Given the description of an element on the screen output the (x, y) to click on. 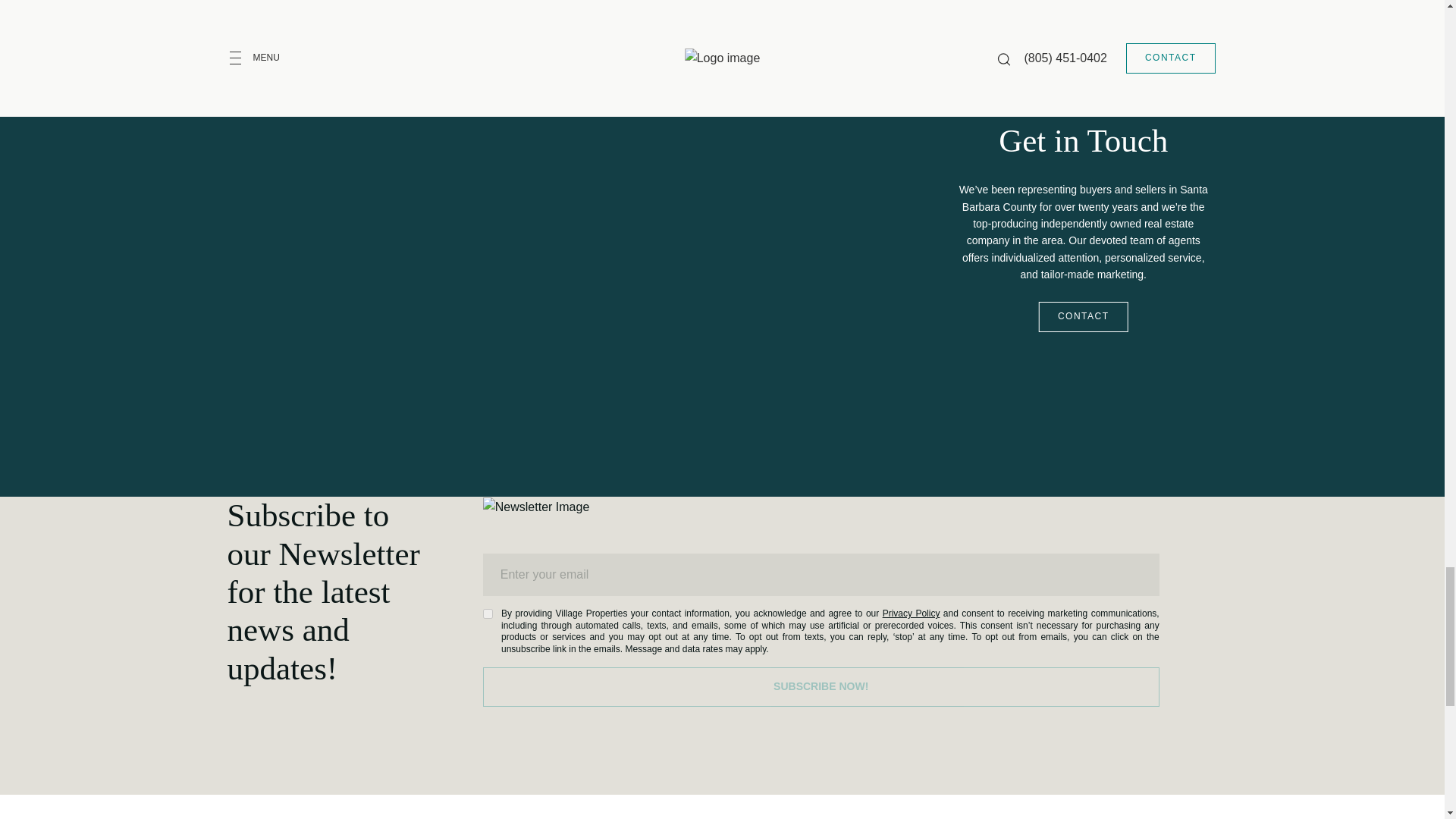
on (488, 614)
SUBSCRIBE NOW! (820, 686)
CONTACT (1083, 317)
Privacy Policy (911, 613)
